Given the description of an element on the screen output the (x, y) to click on. 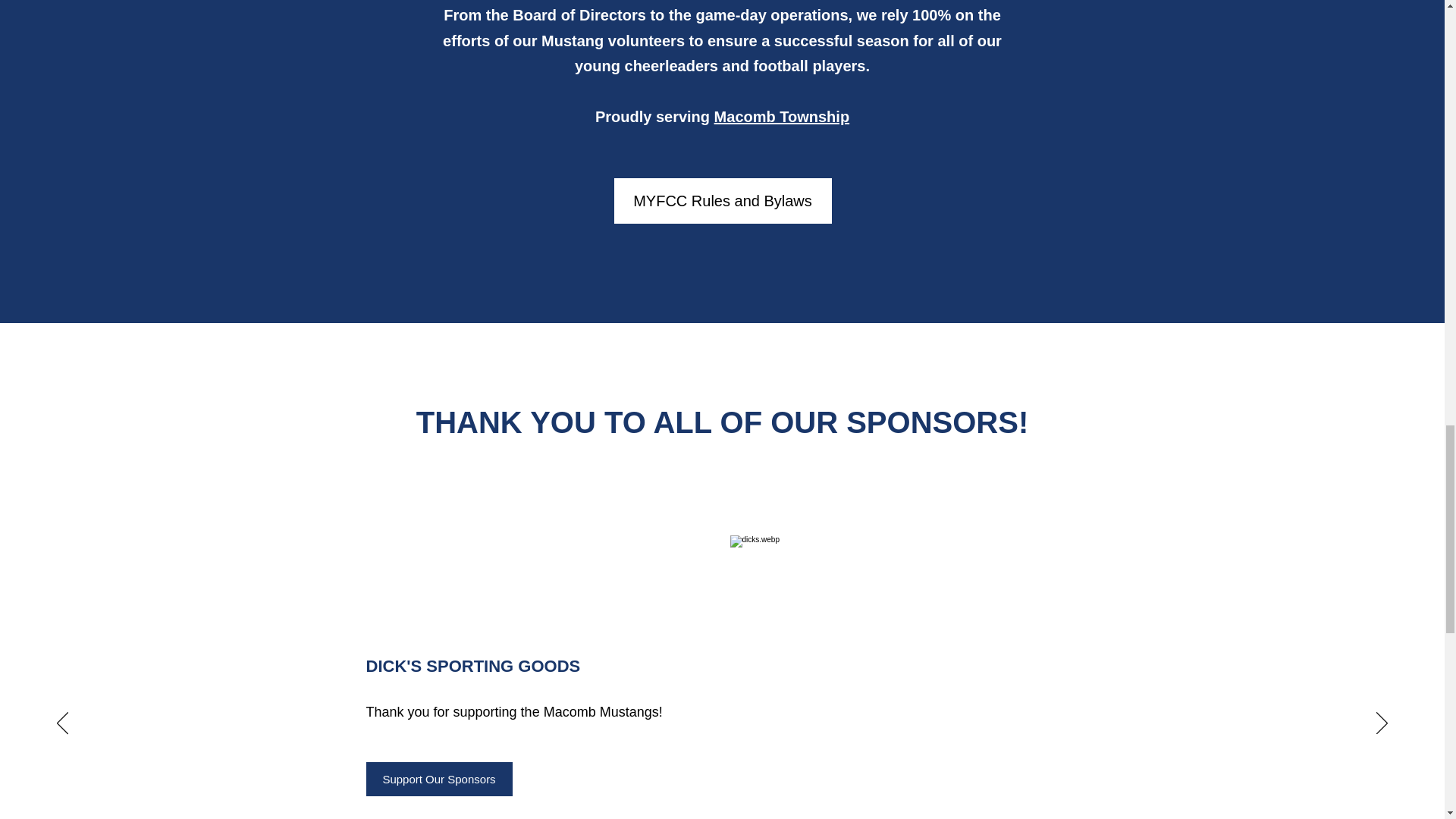
Macomb Township (782, 116)
Support Our Sponsors (438, 779)
MYFCC Rules and Bylaws (722, 200)
